Given the description of an element on the screen output the (x, y) to click on. 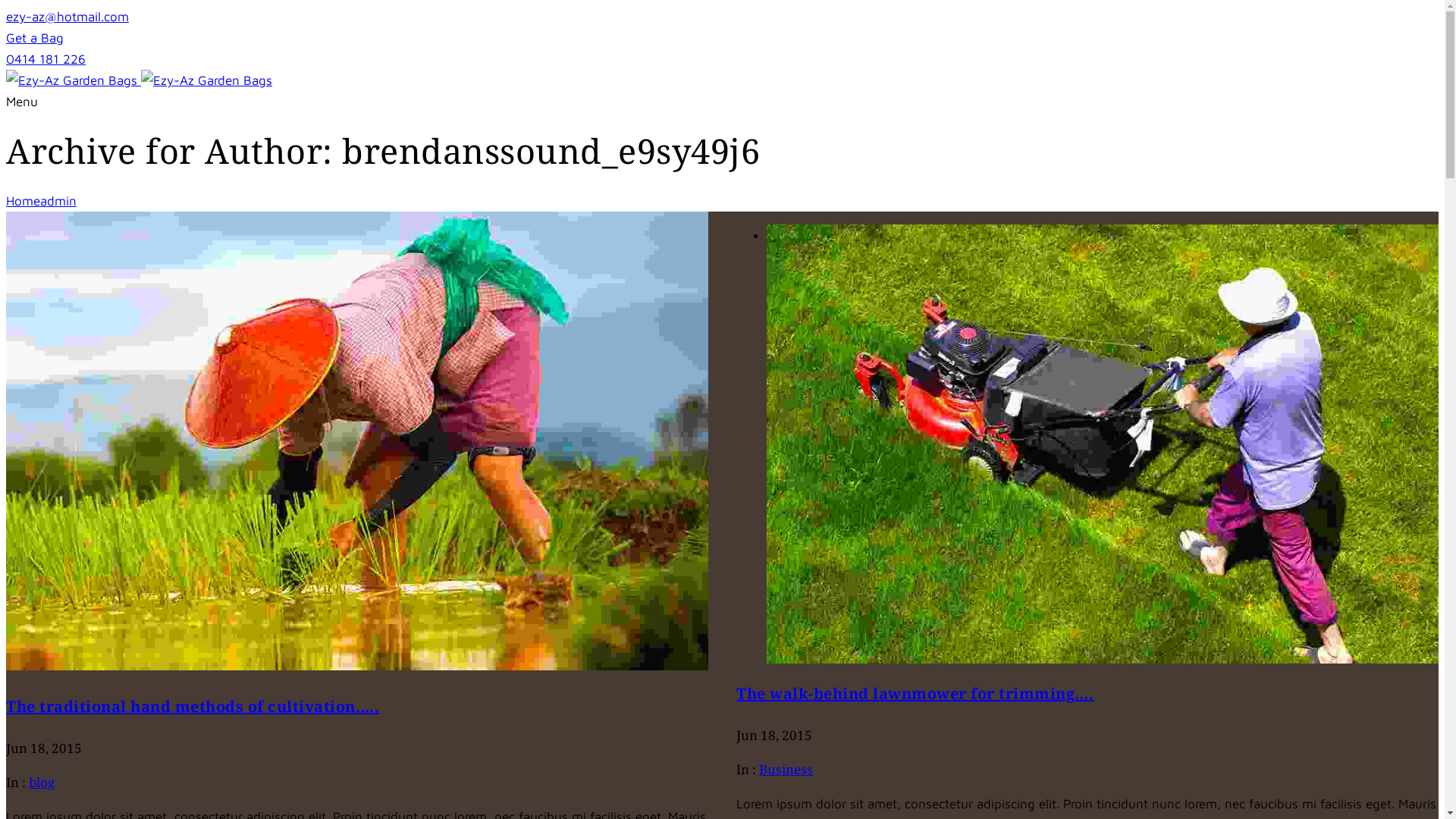
blog Element type: text (41, 781)
Get a Bag Element type: text (34, 37)
0414 181 226 Element type: text (45, 58)
ezy-az@hotmail.com Element type: text (67, 16)
Ezy-Az Garden Bags Element type: hover (71, 80)
Ezy-Az Garden Bags Element type: hover (206, 80)
Home Element type: text (23, 200)
Business Element type: text (785, 769)
admin Element type: text (58, 200)
Ezy-Az Garden Bags Element type: hover (139, 79)
Facebook Element type: hover (1420, 40)
